Given the description of an element on the screen output the (x, y) to click on. 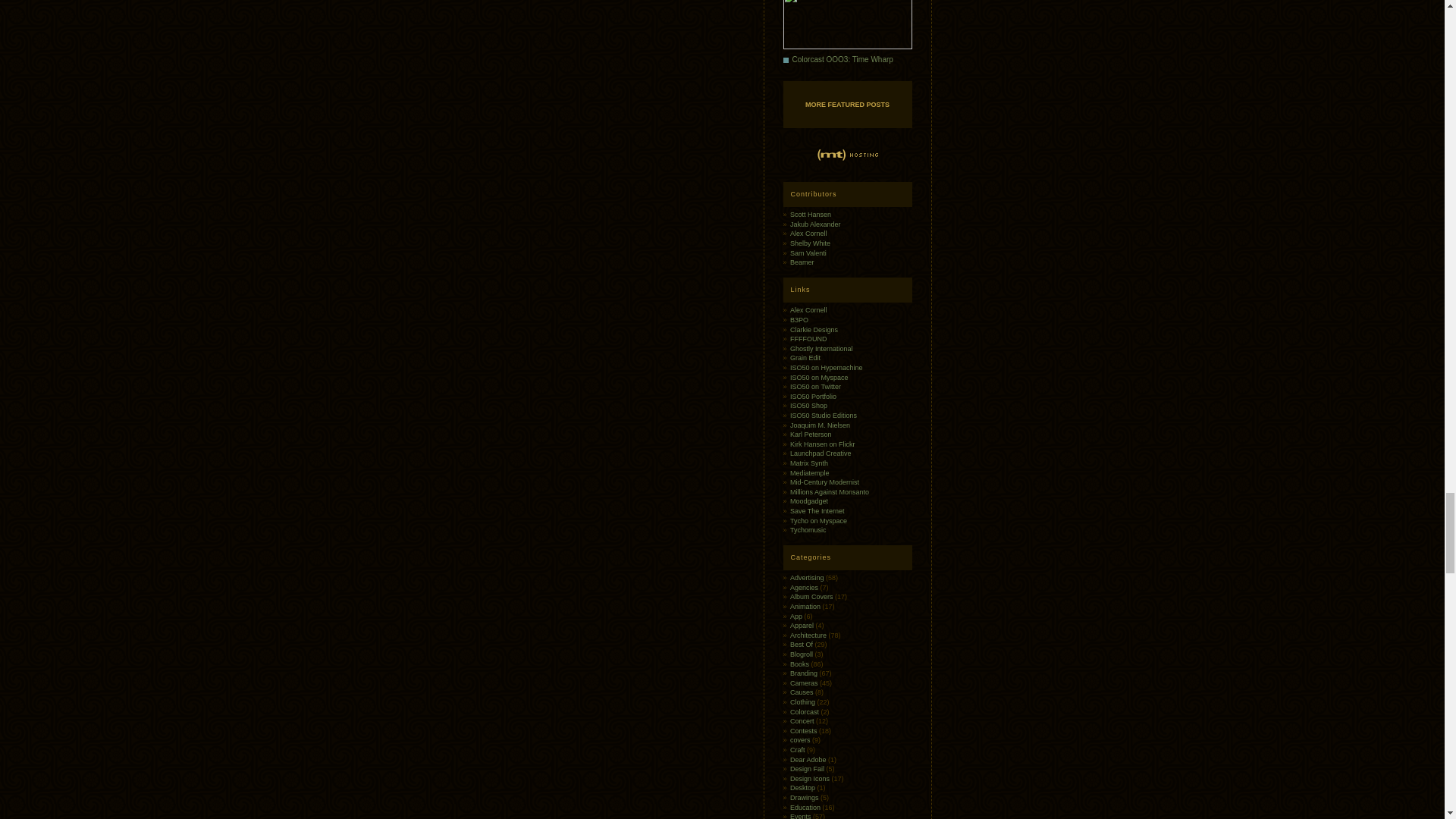
ISO50 on Twitter (815, 386)
Karl helps out with the technical aspects of the blog. (810, 434)
Music from ISO50 on Hypemachine (826, 367)
Synth love (809, 462)
ISO50 Portfolio (812, 396)
The Blog of Joaquim M. Nielsen (820, 425)
